Given the description of an element on the screen output the (x, y) to click on. 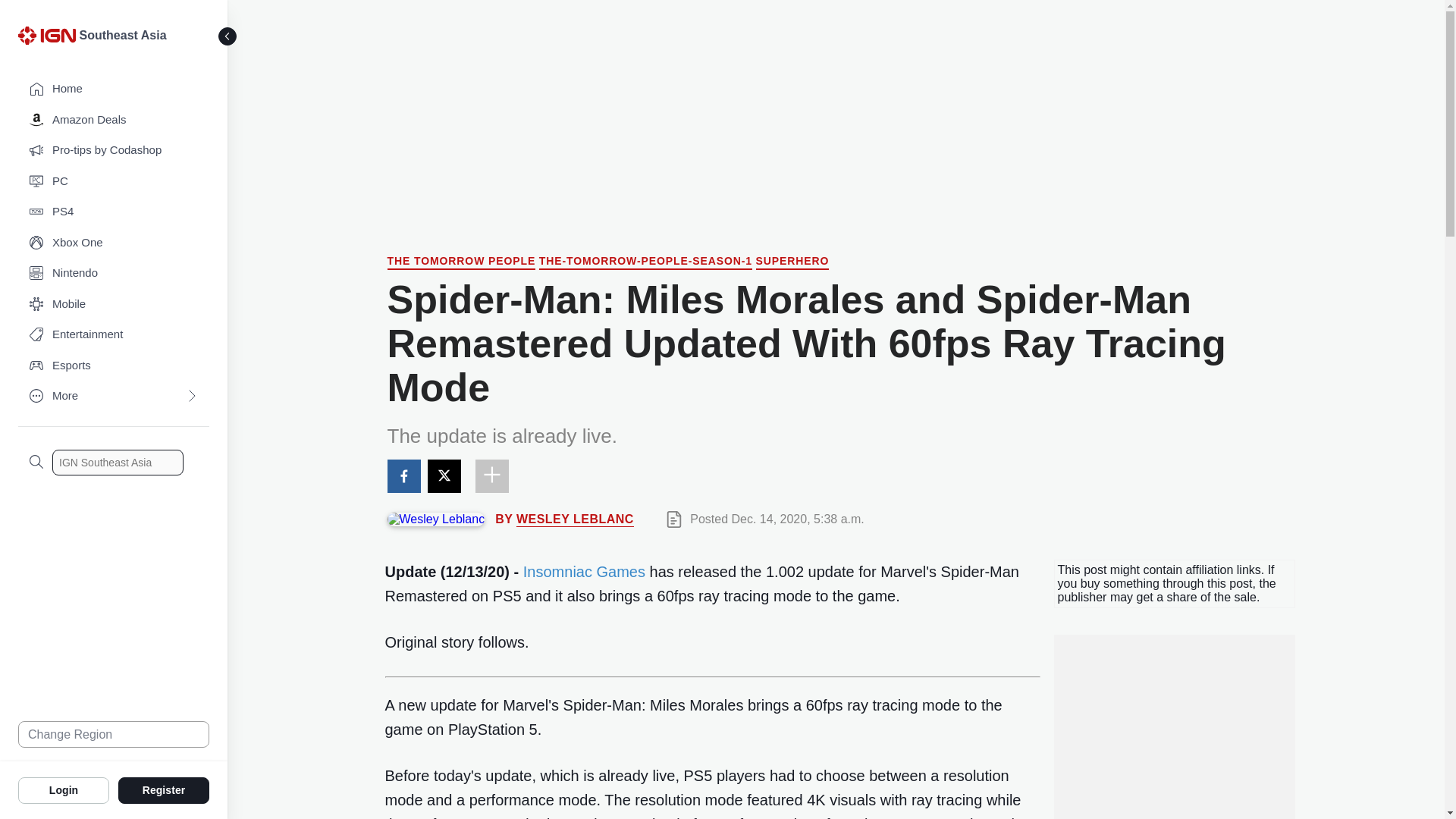
THE-TOMORROW-PEOPLE-SEASON-1 (645, 262)
Superhero (791, 262)
SUPERHERO (791, 262)
THE TOMORROW PEOPLE (461, 262)
Xbox One (113, 242)
the-tomorrow-people-season-1 (645, 262)
IGN Logo (48, 39)
The Tomorrow People (461, 262)
PS4 (113, 211)
Nintendo (113, 273)
